Given the description of an element on the screen output the (x, y) to click on. 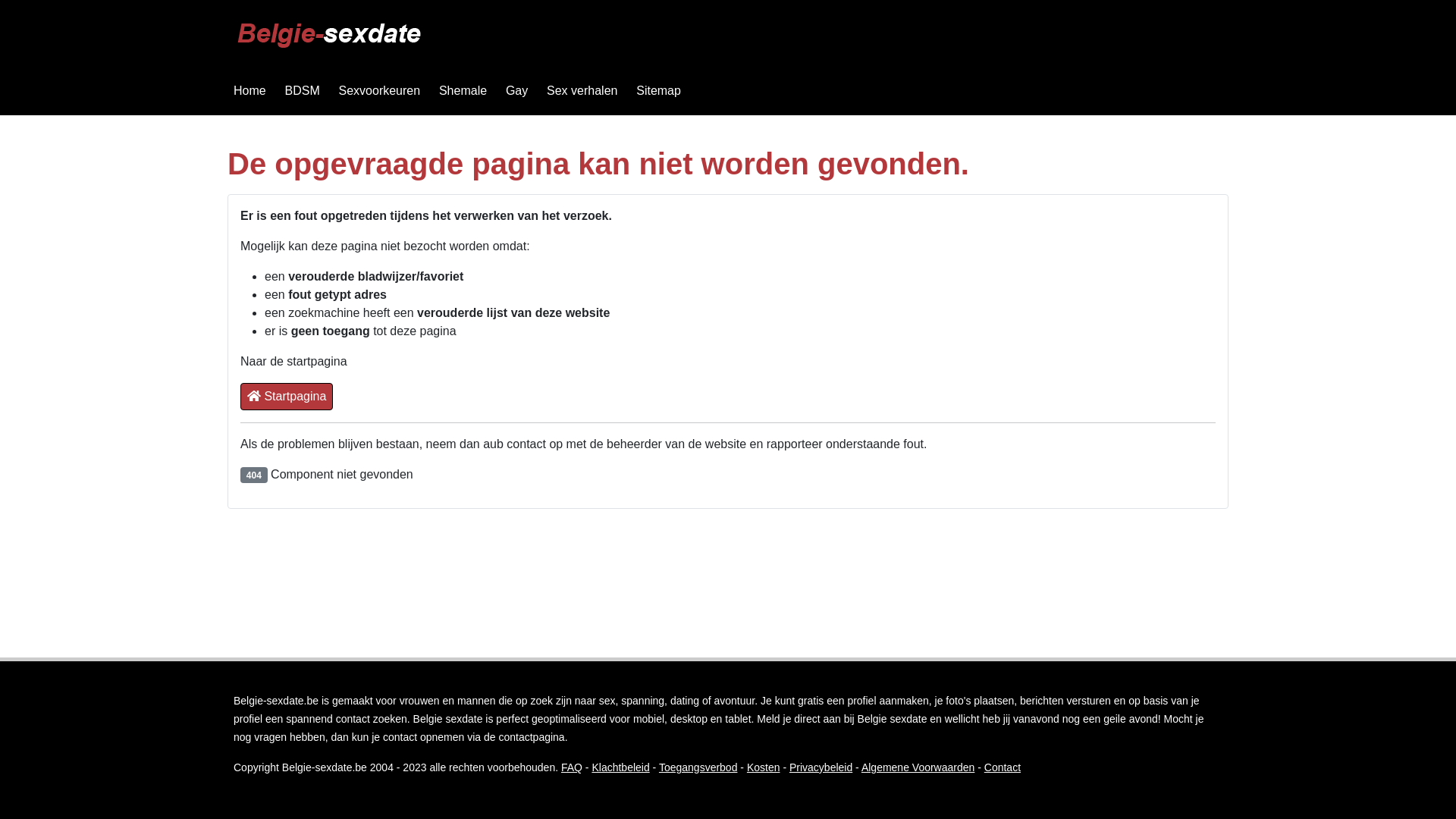
Privacybeleid Element type: text (820, 767)
Shemale Element type: text (462, 90)
Toegangsverbod Element type: text (697, 767)
BDSM Element type: text (301, 90)
Startpagina Element type: text (286, 396)
Sitemap Element type: text (658, 90)
Kosten Element type: text (763, 767)
Sex verhalen Element type: text (581, 90)
Contact Element type: text (1002, 767)
Klachtbeleid Element type: text (620, 767)
Gay Element type: text (516, 90)
Home Element type: text (249, 90)
Algemene Voorwaarden Element type: text (917, 767)
FAQ Element type: text (571, 767)
Sexvoorkeuren Element type: text (379, 90)
